Given the description of an element on the screen output the (x, y) to click on. 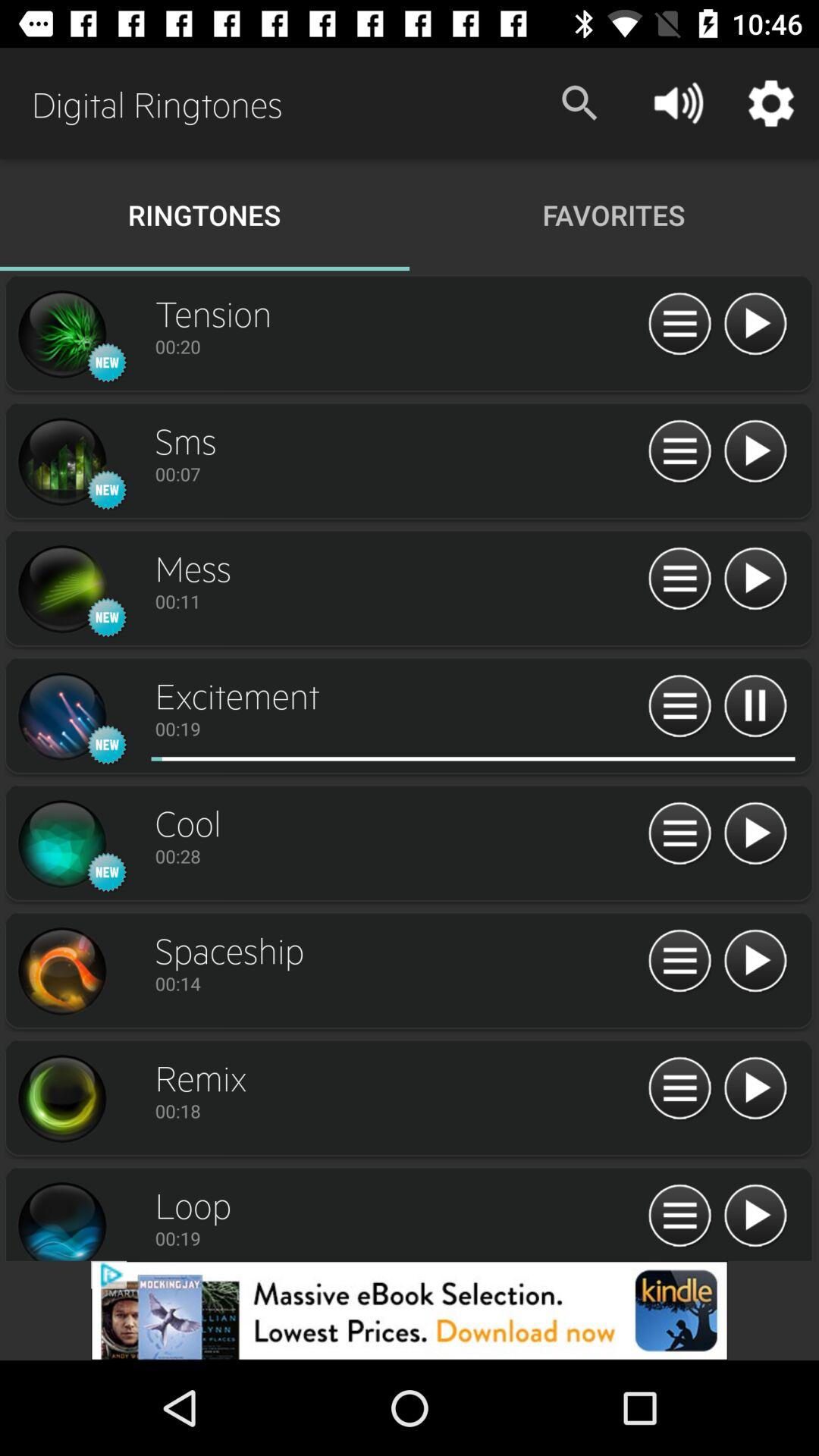
menu icon (679, 706)
